Given the description of an element on the screen output the (x, y) to click on. 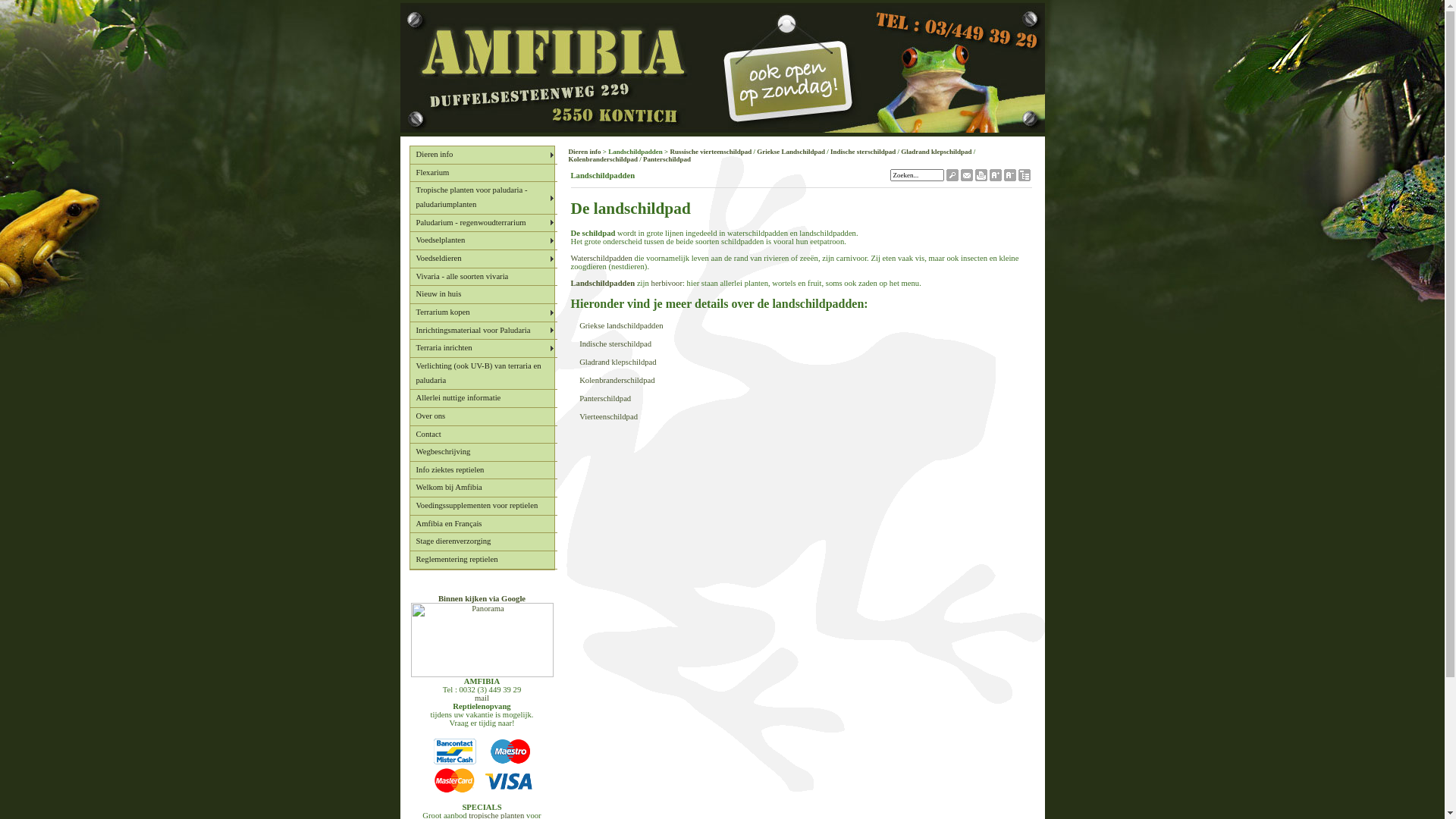
Kleinere tekens Element type: hover (1010, 177)
Paludarium - regenwoudterrarium Element type: text (482, 223)
herbivoor Element type: text (666, 283)
Panterschildpad Element type: text (604, 398)
Verzend deze pagina naar uw email Element type: hover (966, 177)
Nieuw in huis Element type: text (482, 294)
mail Element type: text (481, 697)
Russische vierteenschildpad Element type: text (710, 151)
Waterschildpadden Element type: text (600, 258)
Voedingssupplementen voor reptielen Element type: text (482, 506)
Gladrand klepschildpad Element type: text (617, 361)
Printvriendelijke versie Element type: hover (981, 177)
Grotere tekens Element type: hover (994, 177)
Reglementering reptielen Element type: text (482, 560)
Kolenbranderschildpad Element type: text (603, 159)
Griekse Landschildpad Element type: text (790, 151)
Terrarium kopen Element type: text (482, 313)
Welkom bij Amfibia Element type: text (482, 488)
Voedselplanten Element type: text (482, 241)
Dieren info Element type: text (584, 151)
Terraria inrichten Element type: text (482, 348)
Wegbeschrijving Element type: text (482, 452)
Griekse landschildpadden Element type: text (620, 325)
Binnen kijken via Google Element type: text (481, 598)
Voedseldieren Element type: text (482, 259)
Stage dierenverzorging Element type: text (482, 542)
Dieren info Element type: text (482, 155)
Indische sterschildpad Element type: text (615, 343)
SiteMap Element type: hover (1023, 177)
Vivaria - alle soorten vivaria Element type: text (482, 277)
Flexarium Element type: text (482, 173)
Gladrand klepschildpad Element type: text (935, 151)
Vierteenschildpad Element type: text (608, 416)
Zoeken Element type: hover (952, 177)
Info ziektes reptielen Element type: text (482, 470)
Verlichting (ook UV-B) van terraria en paludaria Element type: text (482, 373)
Allerlei nuttige informatie Element type: text (482, 398)
Kolenbranderschildpad Element type: text (616, 380)
Tropische planten voor paludaria - paludariumplanten Element type: text (482, 197)
Contact Element type: text (482, 435)
Landschildpadden Element type: text (602, 283)
Inrichtingsmateriaal voor Paludaria Element type: text (482, 331)
Panterschildpad Element type: text (666, 159)
Indische sterschildpad Element type: text (862, 151)
Over ons Element type: text (482, 416)
